Given the description of an element on the screen output the (x, y) to click on. 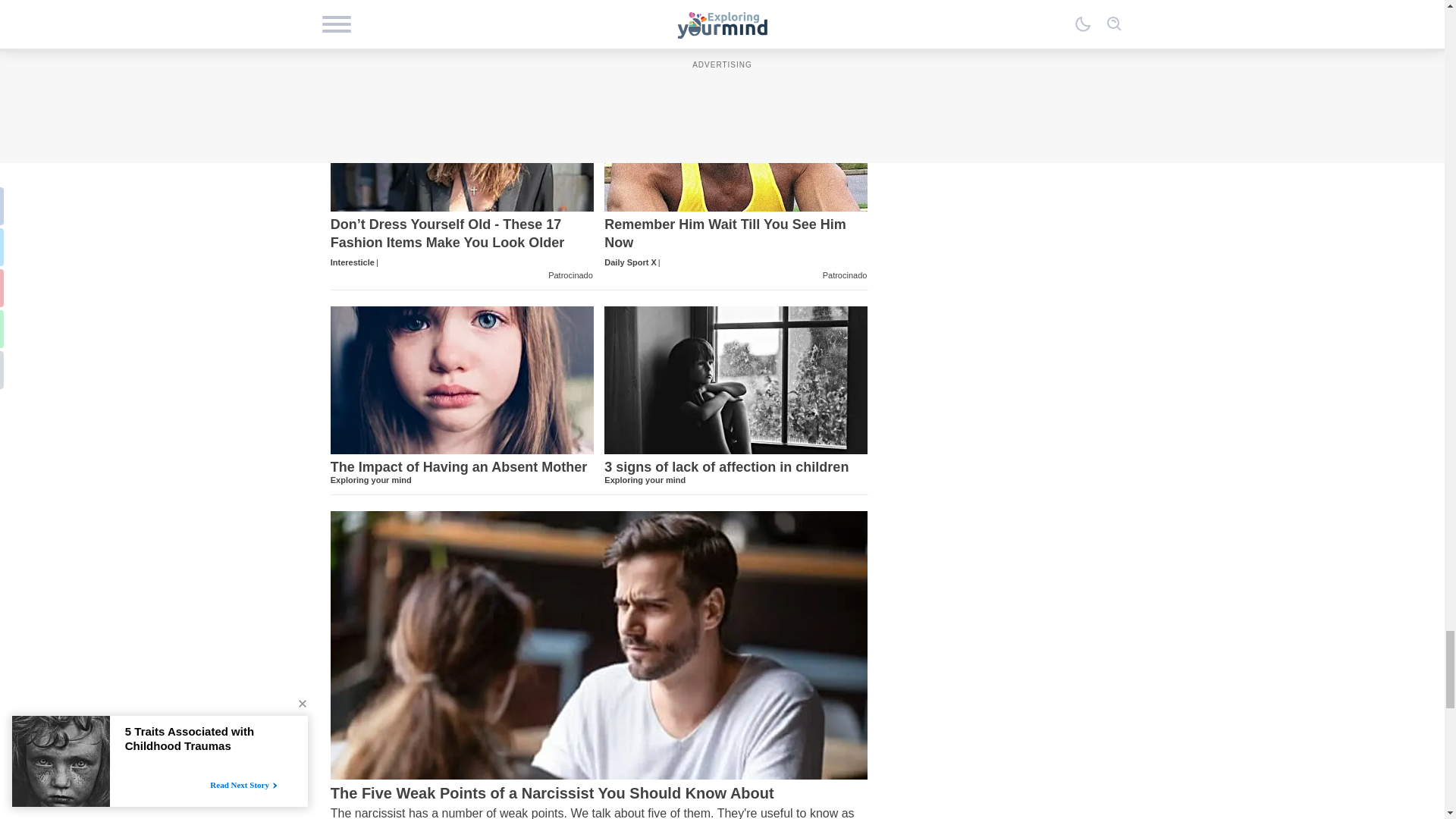
Remember Him Wait Till You See Him Now (735, 243)
Patrocinado (844, 275)
5 Traits Associated with Childhood Traumas (598, 18)
Patrocinado (735, 470)
Remember Him Wait Till You See Him Now (570, 275)
